Given the description of an element on the screen output the (x, y) to click on. 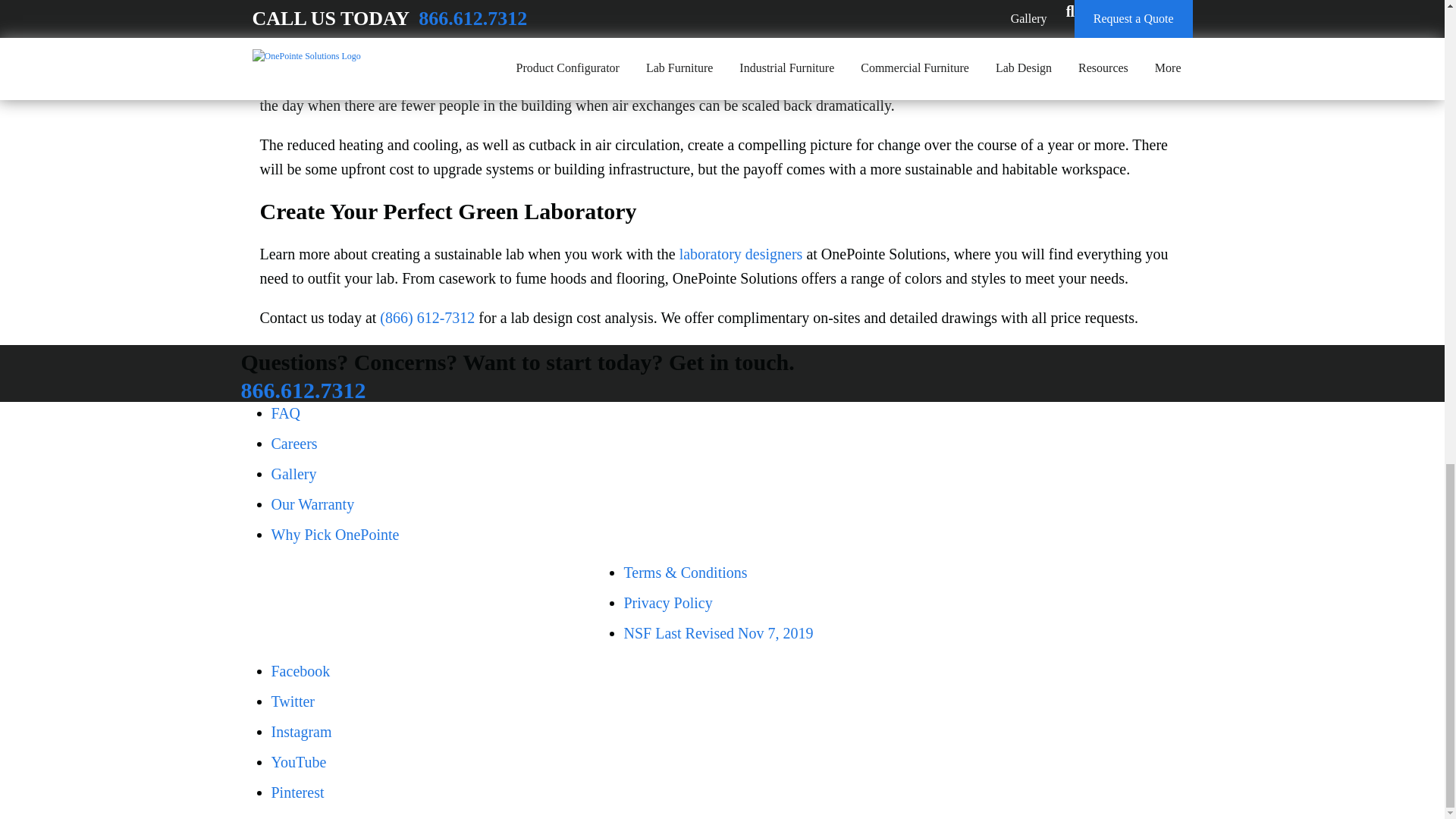
Follow Us on YouTube (298, 761)
Follow Us on Twitter (292, 701)
Follow Us on Pinterest (297, 791)
Follow Us on Facebook (300, 670)
Go Home (432, 602)
Follow Us on Instagram (300, 731)
